Given the description of an element on the screen output the (x, y) to click on. 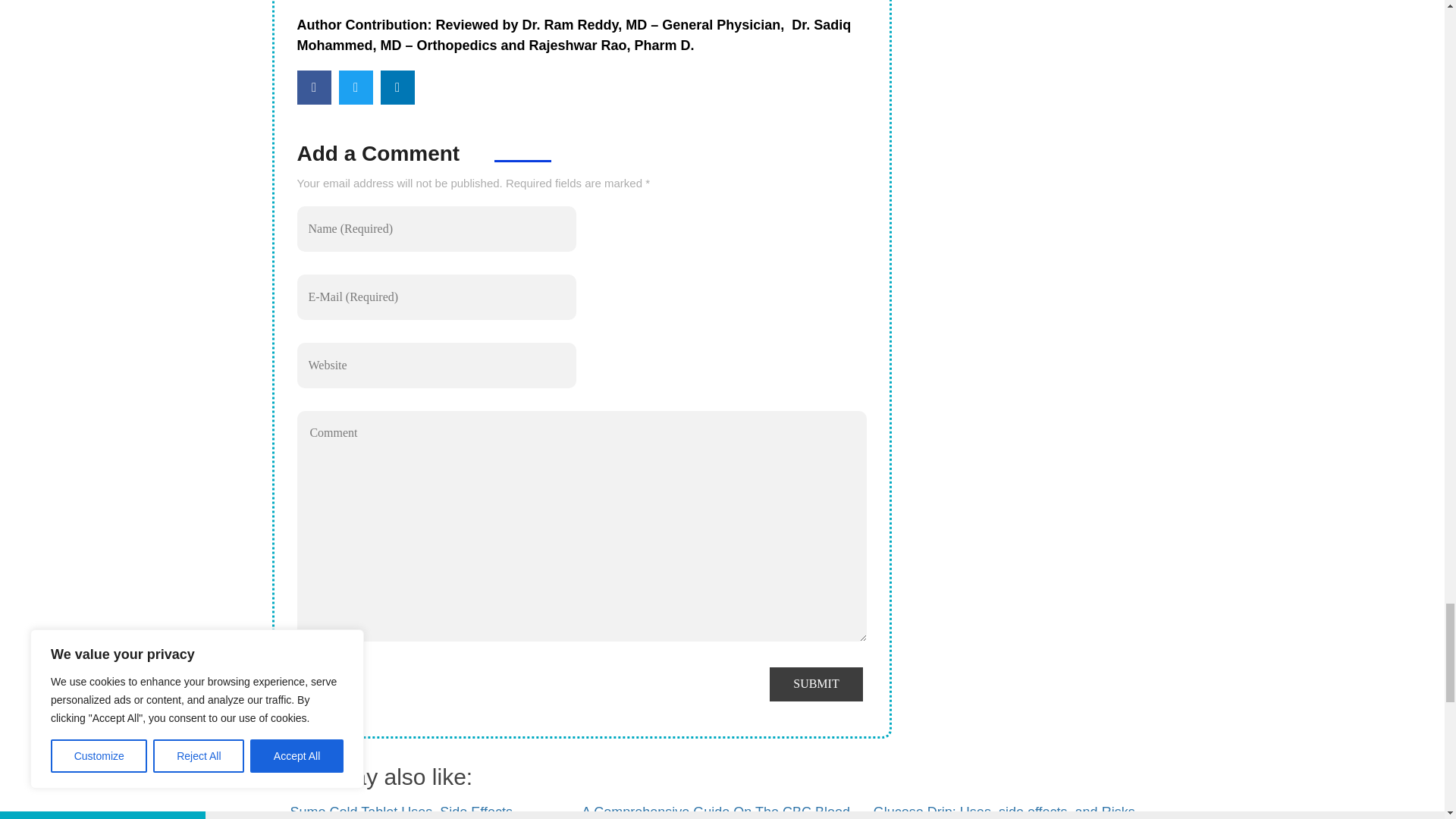
Older posts (347, 120)
Submit (816, 684)
Newer posts (454, 120)
Submit (816, 684)
